Given the description of an element on the screen output the (x, y) to click on. 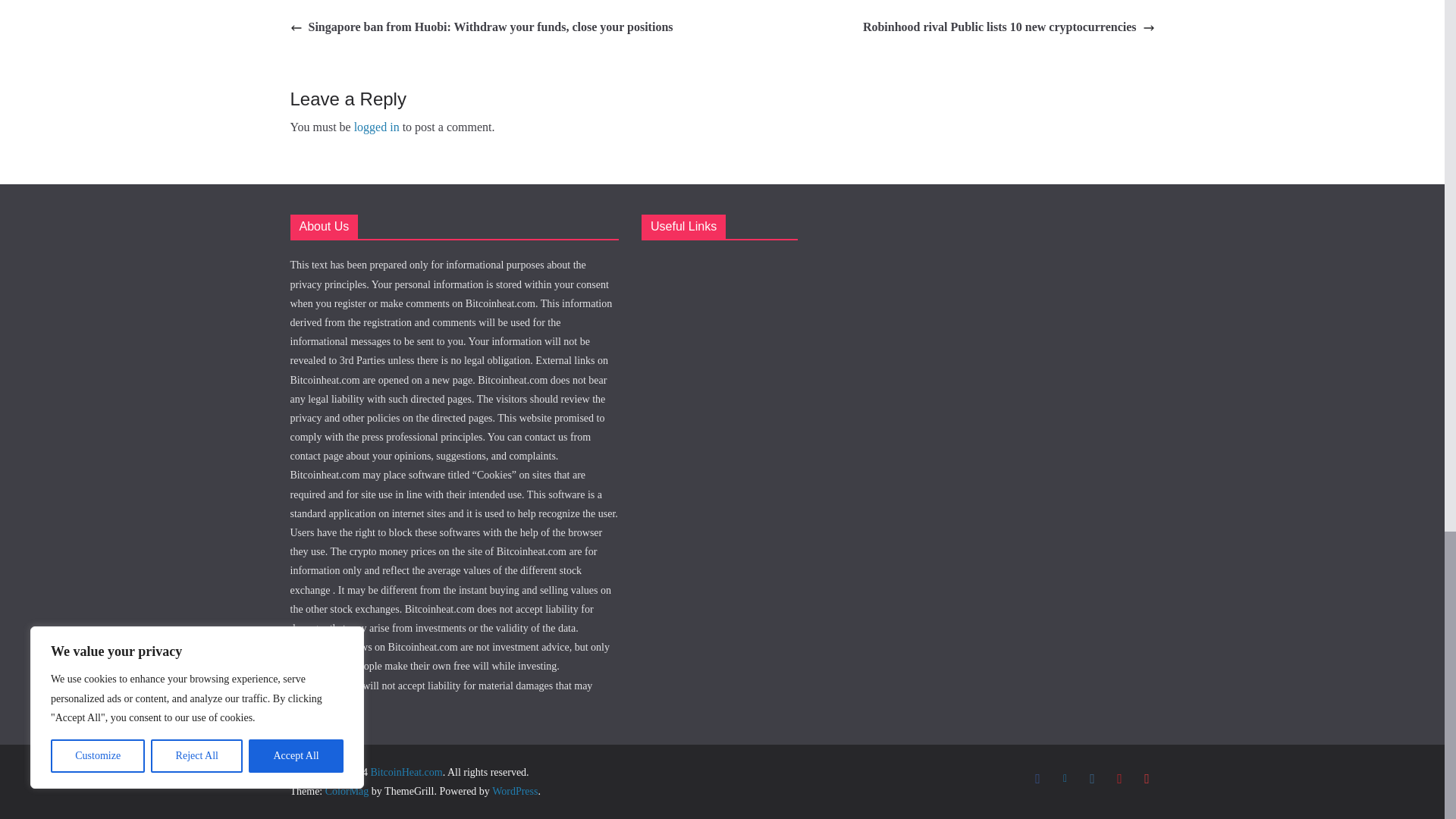
BitcoinHeat.com (405, 772)
ColorMag (346, 790)
